Given the description of an element on the screen output the (x, y) to click on. 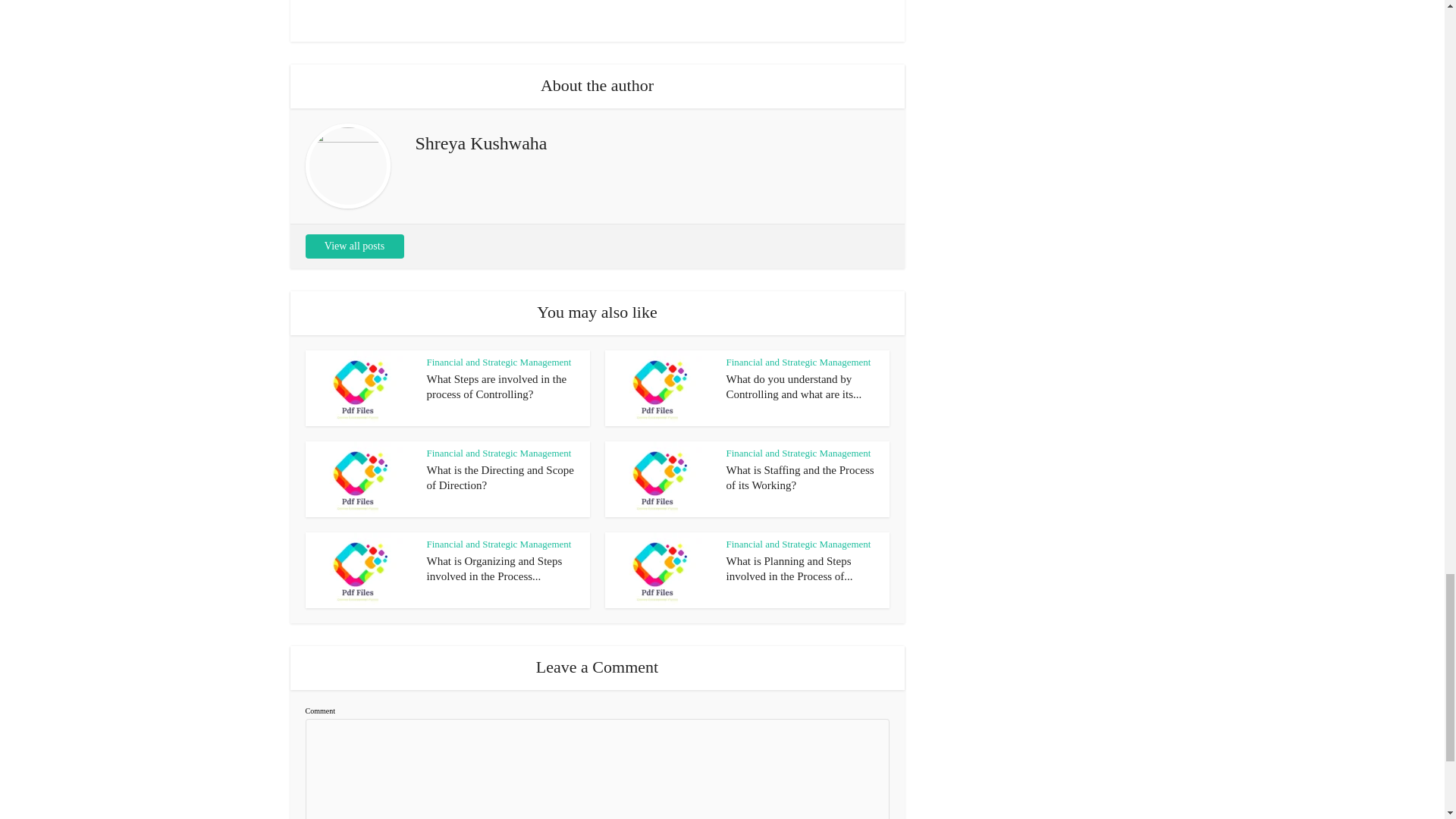
Financial and Strategic Management (798, 361)
What is Planning and Steps involved in the Process of... (789, 568)
View all posts (353, 246)
What do you understand by Controlling and what are its... (793, 386)
What is Staffing and the Process of its Working? (800, 477)
Financial and Strategic Management (798, 452)
Financial and Strategic Management (798, 543)
What Steps are involved in the process of Controlling? (496, 386)
